Given the description of an element on the screen output the (x, y) to click on. 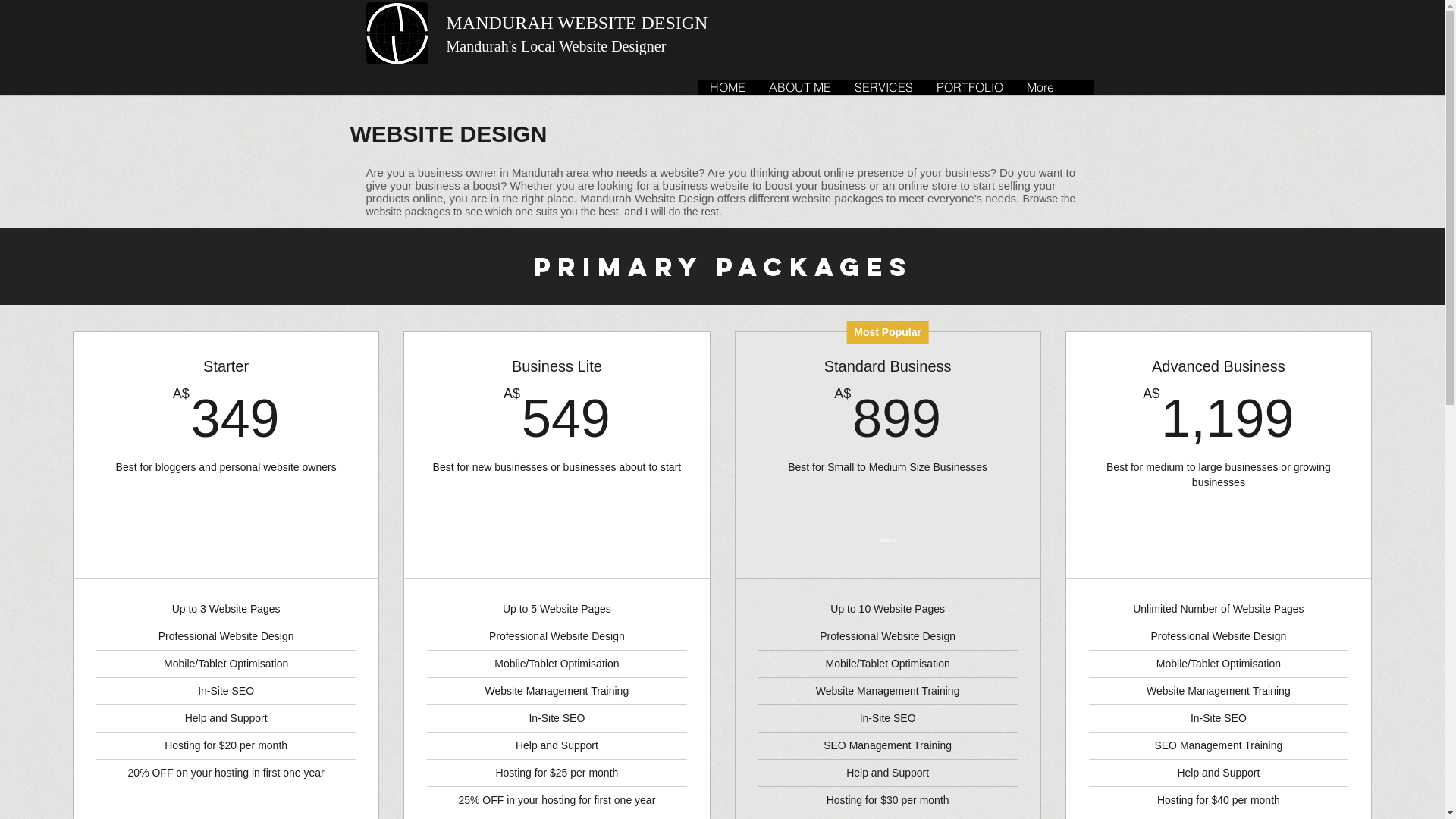
ABOUT ME Element type: text (799, 86)
Select Element type: text (1218, 540)
Select Element type: text (556, 540)
HOME Element type: text (726, 86)
Logo-2.png Element type: hover (396, 33)
Select Element type: text (225, 540)
PORTFOLIO Element type: text (968, 86)
Select Element type: text (887, 540)
